Given the description of an element on the screen output the (x, y) to click on. 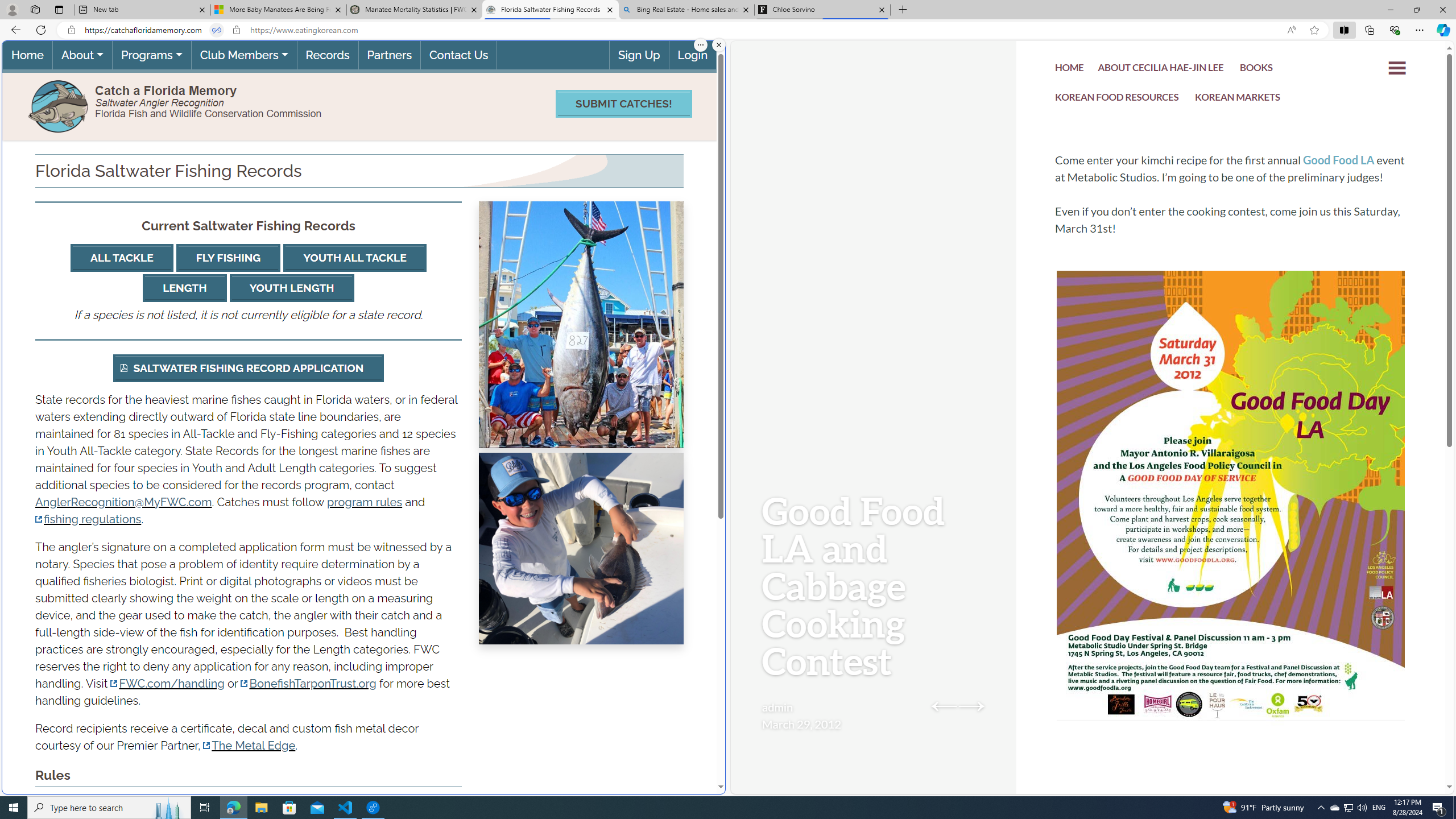
KOREAN MARKETS (1237, 98)
BOOKS (1256, 68)
HOME (1069, 68)
March 29, 2012 (801, 723)
